Given the description of an element on the screen output the (x, y) to click on. 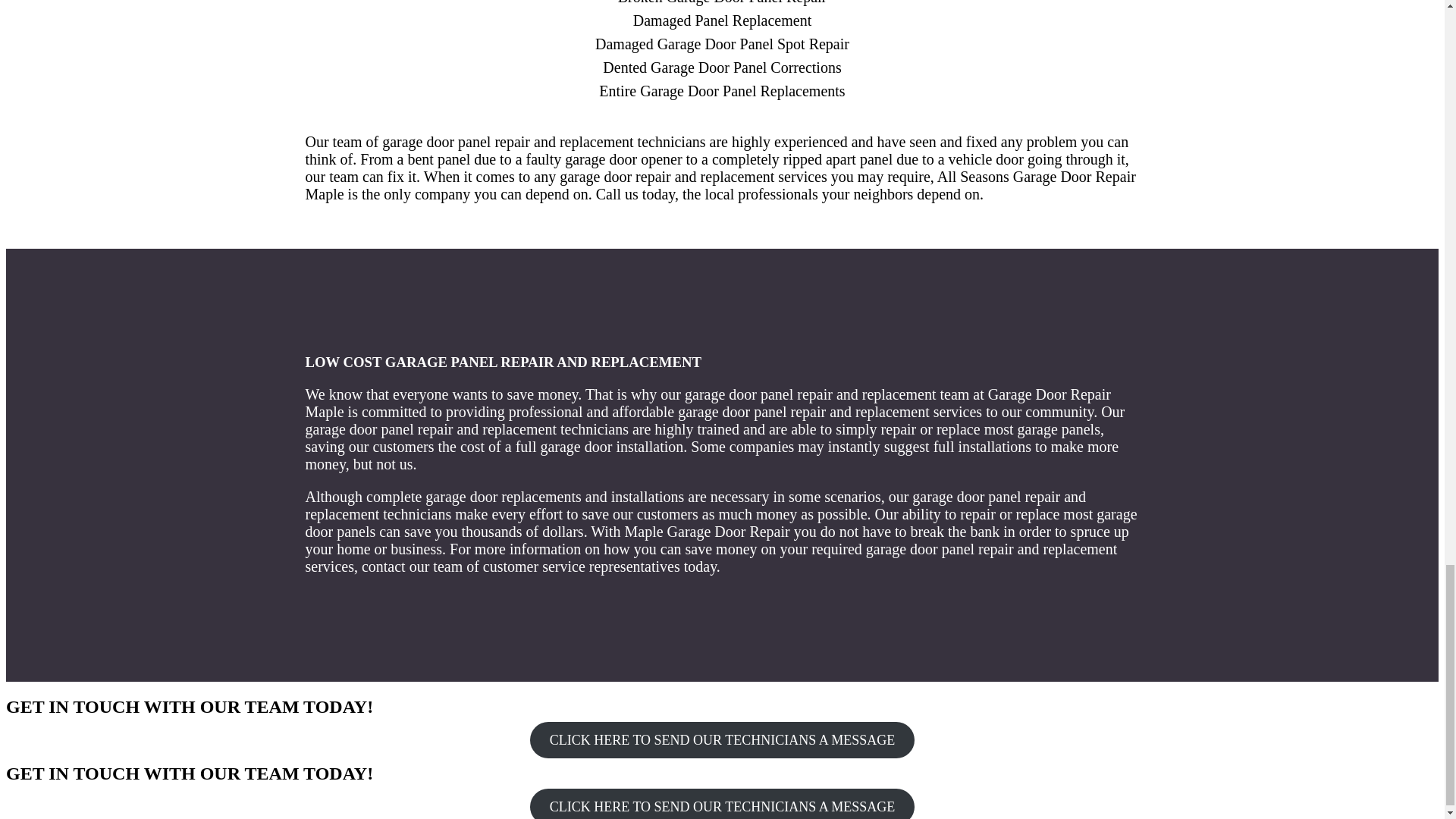
CLICK HERE TO SEND OUR TECHNICIANS A MESSAGE (722, 739)
